Given the description of an element on the screen output the (x, y) to click on. 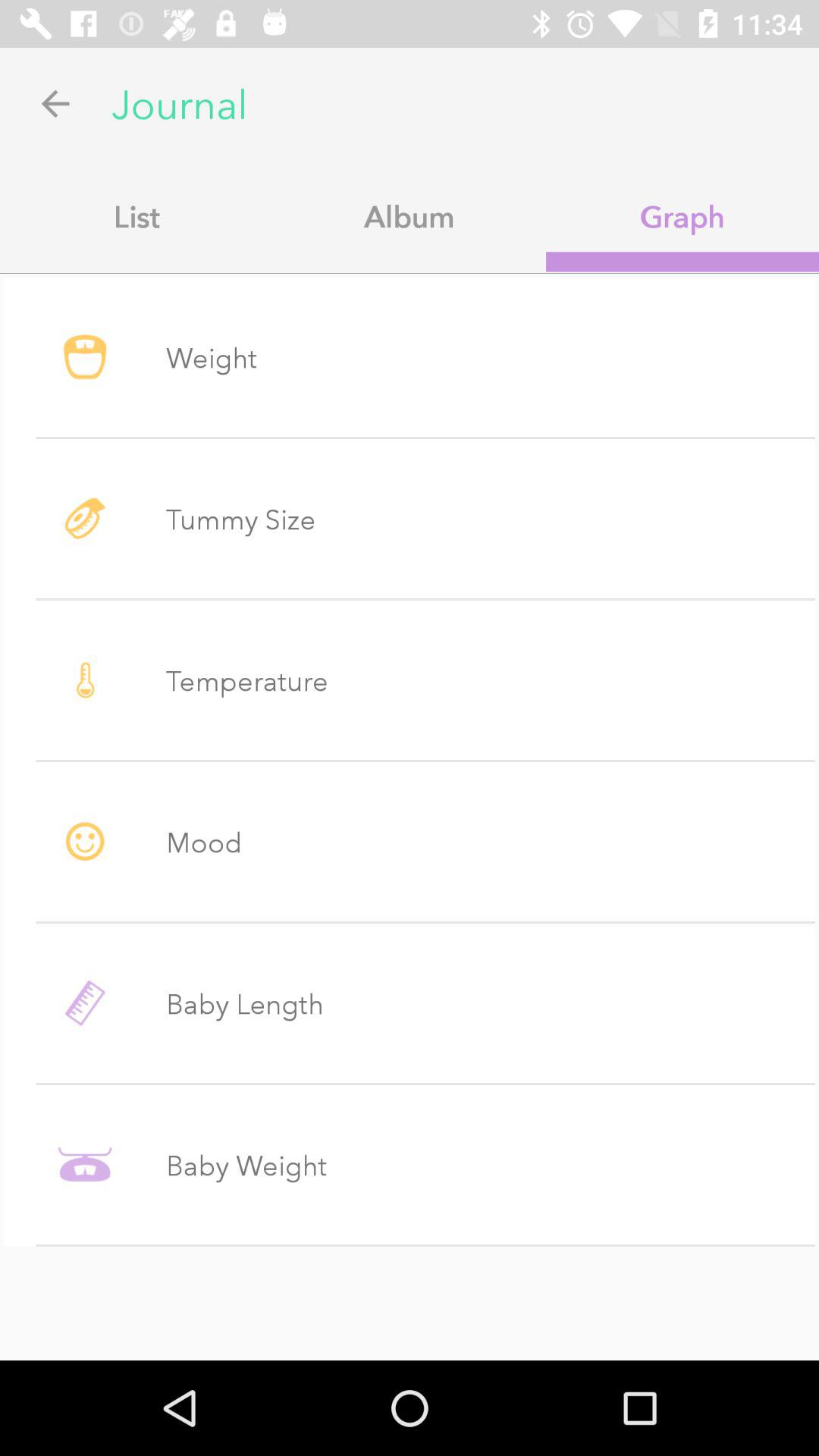
select the app to the left of the graph icon (409, 216)
